Given the description of an element on the screen output the (x, y) to click on. 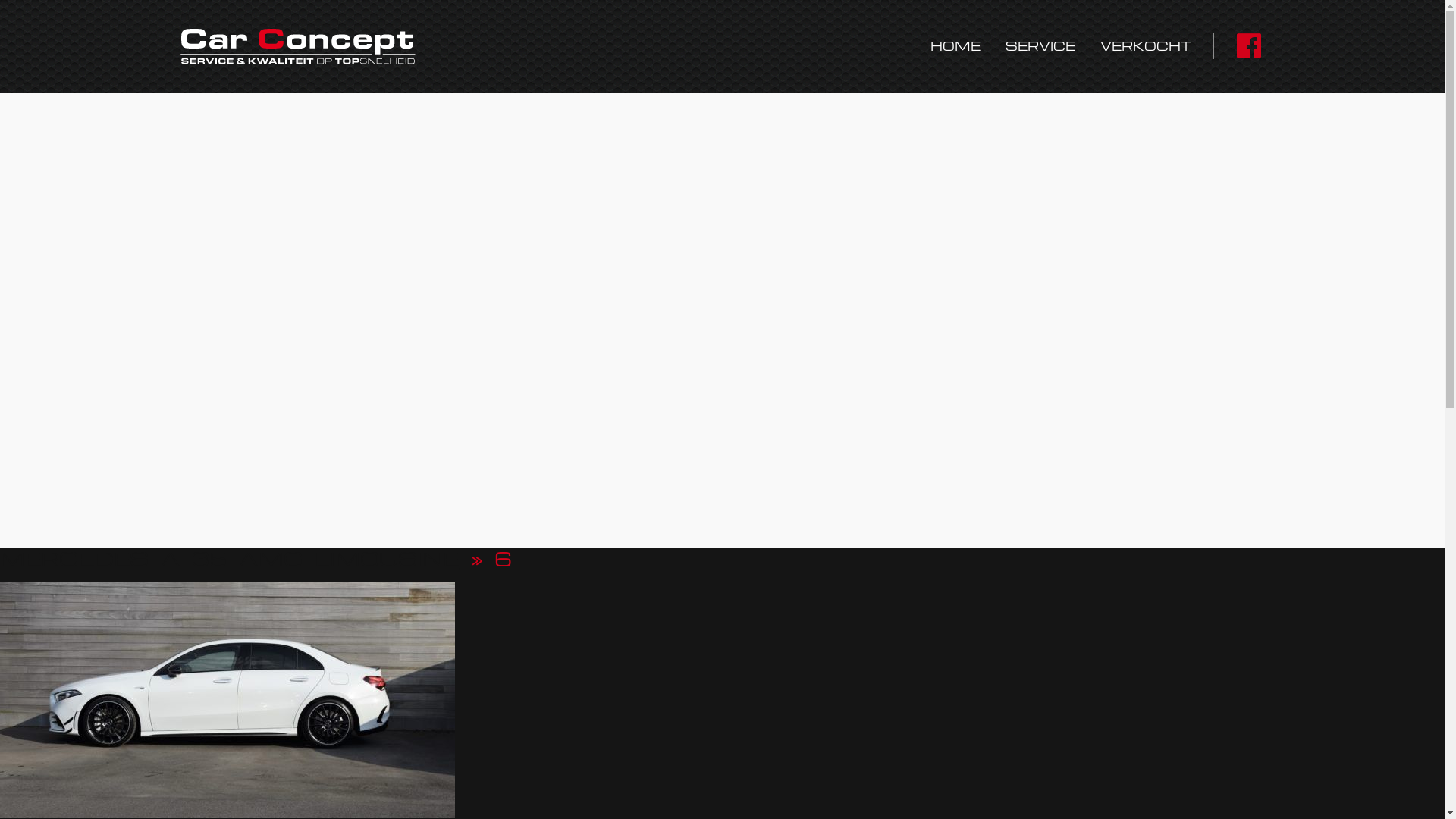
SERVICE Element type: text (1040, 45)
VERKOCHT Element type: text (1145, 45)
MERCEDES A 35 AMG LIMOUSINE Element type: text (229, 558)
HOME Element type: text (955, 45)
